Given the description of an element on the screen output the (x, y) to click on. 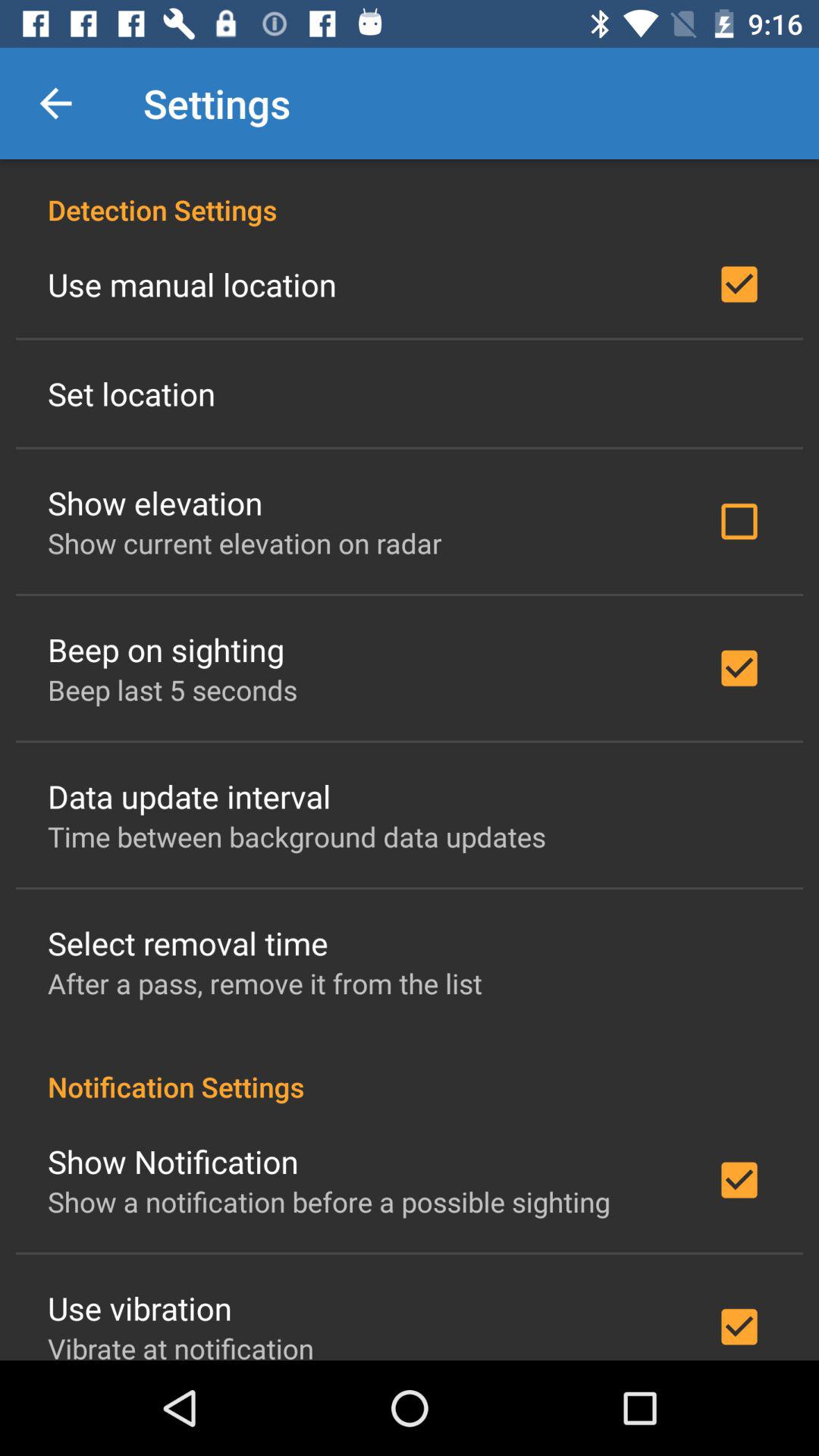
turn on the beep on sighting item (165, 649)
